Given the description of an element on the screen output the (x, y) to click on. 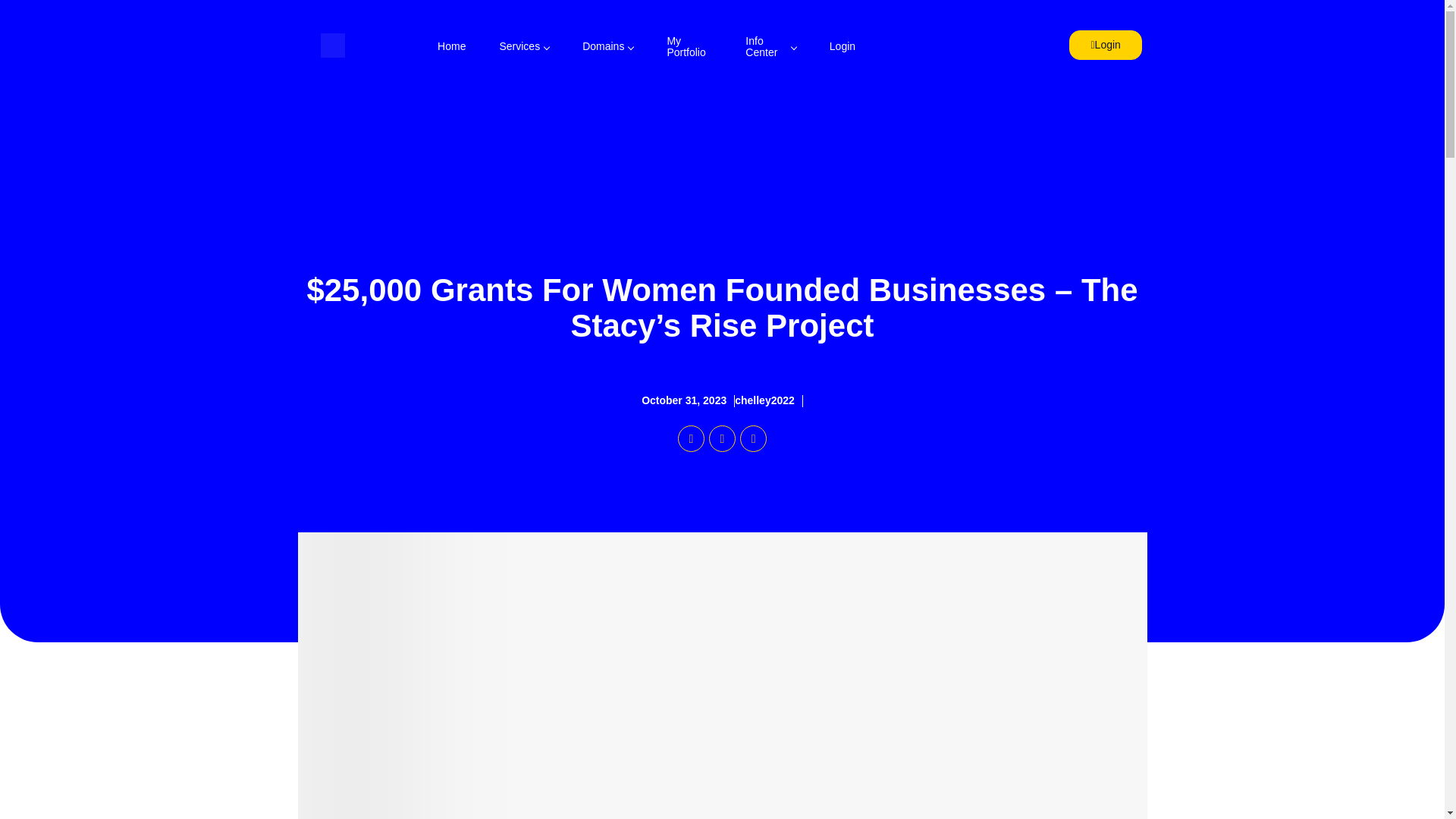
My Portfolio (689, 47)
Home (450, 47)
Login (1104, 44)
Info Center (770, 47)
Login (842, 47)
October 31, 2023 (688, 400)
Domains (607, 47)
chelley2022 (769, 400)
Services (523, 47)
